Given the description of an element on the screen output the (x, y) to click on. 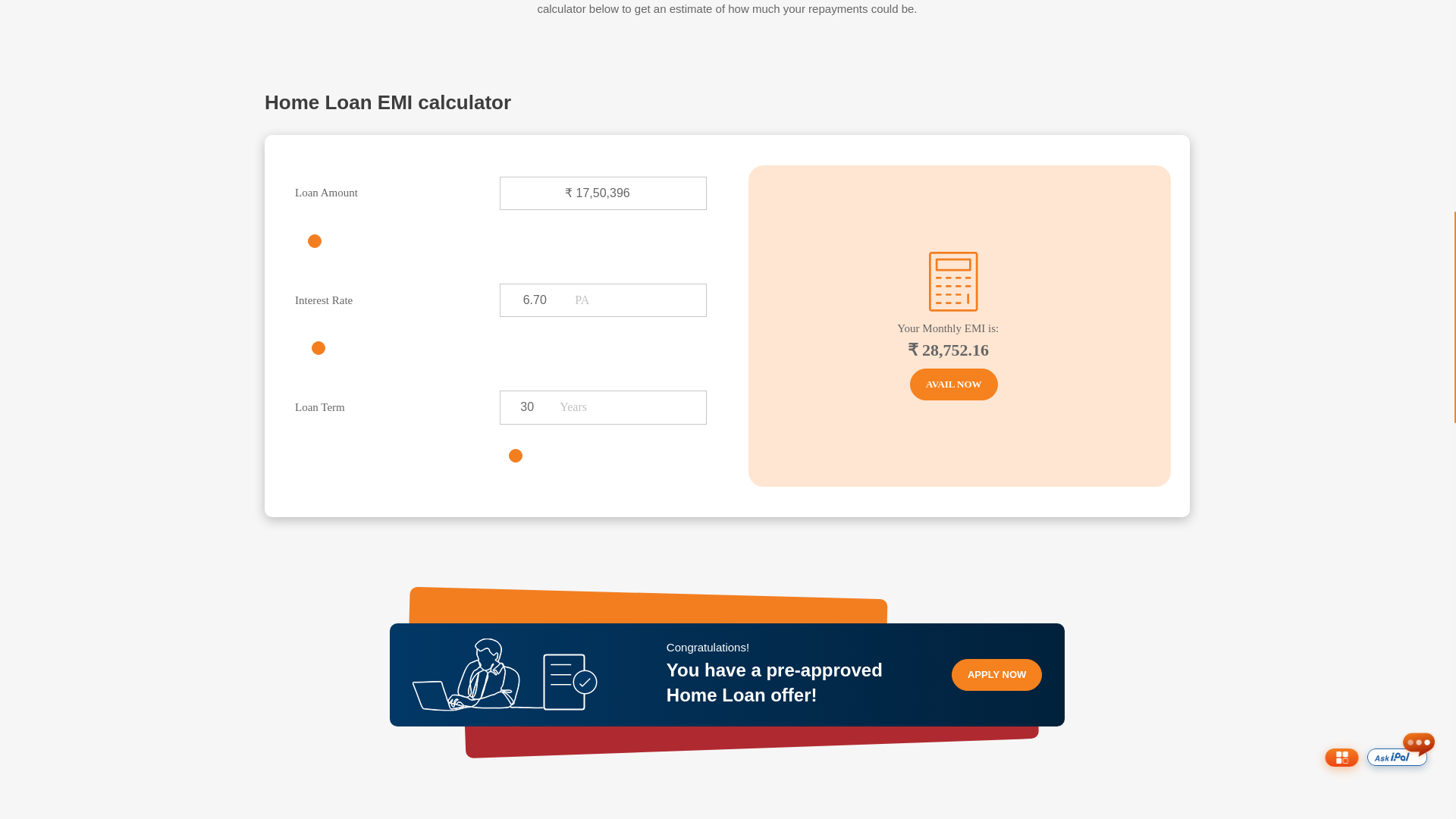
6.70 (534, 300)
30 (526, 407)
